Given the description of an element on the screen output the (x, y) to click on. 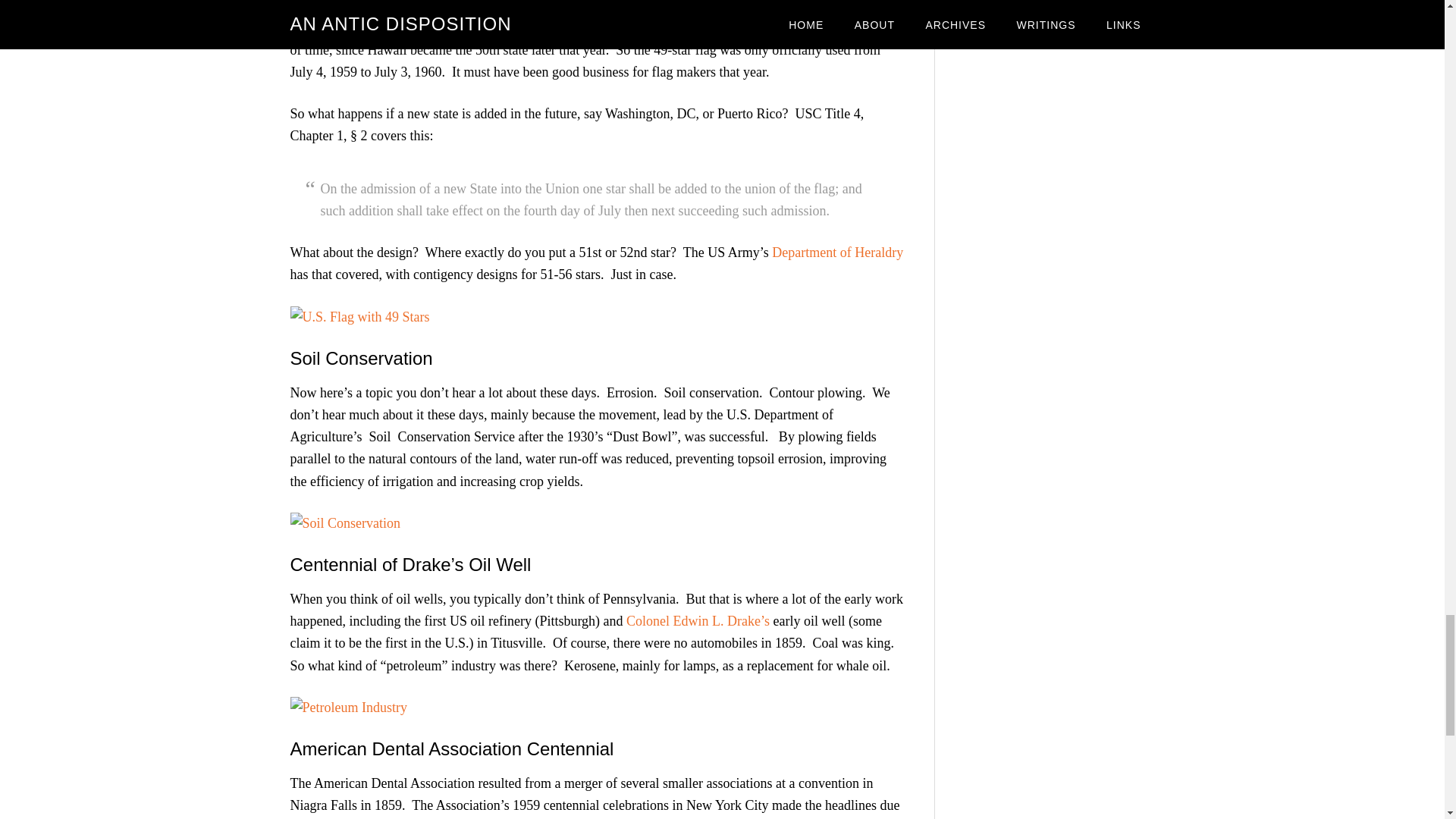
U.S. Flag with 49 Stars (359, 316)
Petroleum Industry (347, 707)
Department of Heraldry (836, 252)
Soil Conservation (344, 522)
